Given the description of an element on the screen output the (x, y) to click on. 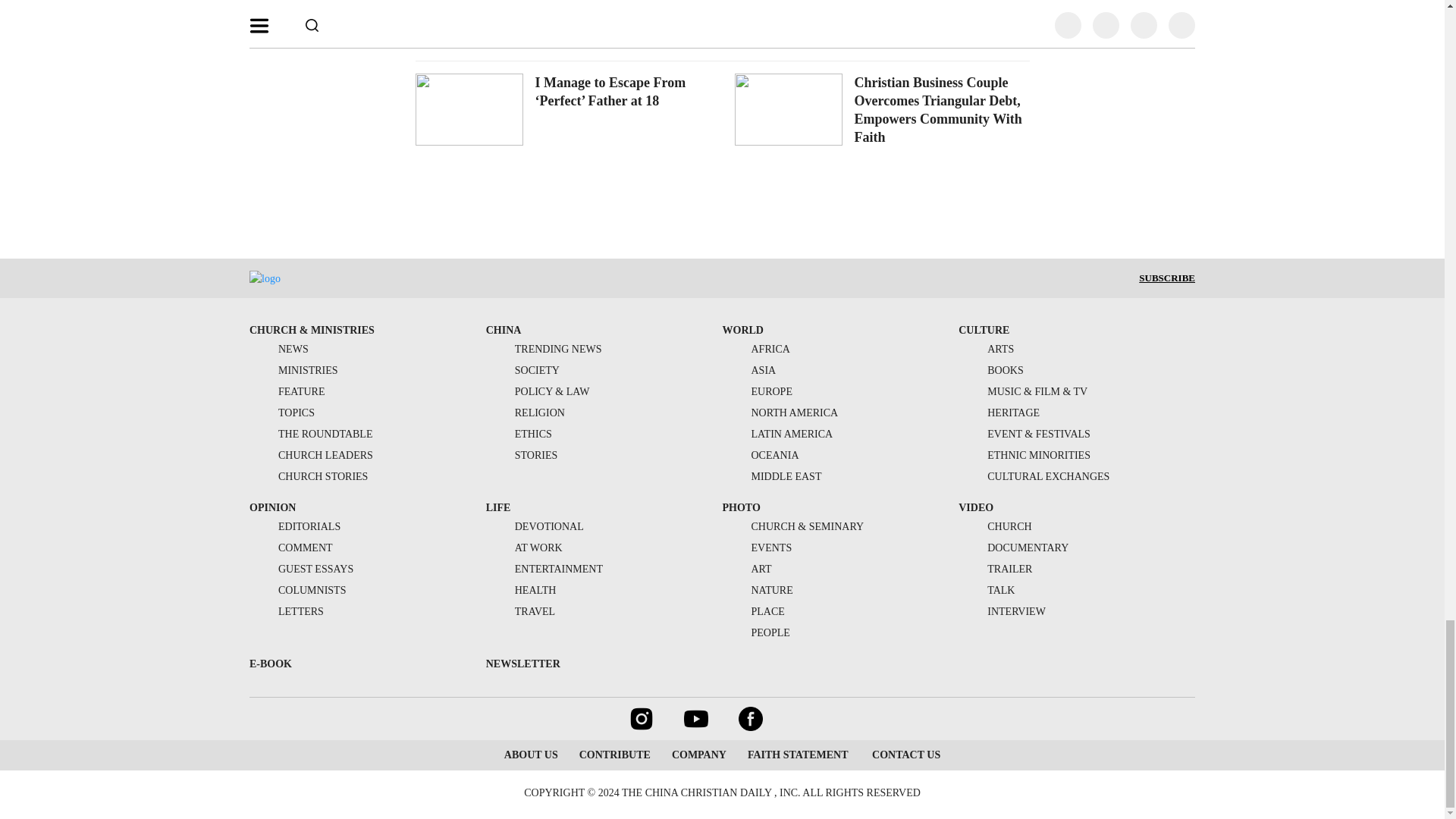
FEATURE (286, 391)
NEWS (278, 348)
TOPICS (281, 412)
MINISTRIES (292, 369)
CHURCH LEADERS (310, 455)
THE ROUNDTABLE (310, 433)
